Given the description of an element on the screen output the (x, y) to click on. 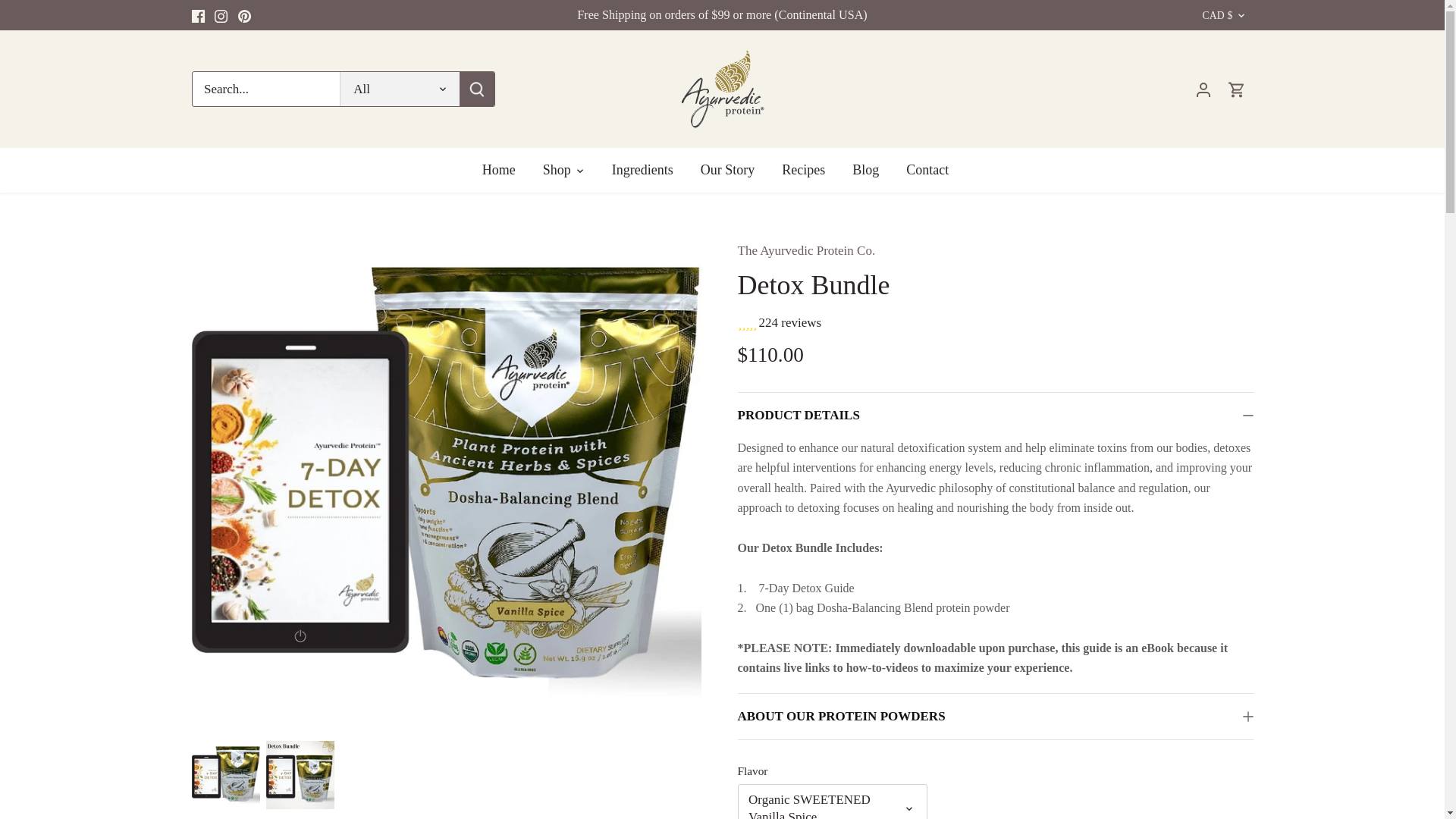
Instagram (220, 15)
Contact (927, 170)
Pinterest (244, 15)
Blog (865, 170)
Facebook (196, 15)
Ingredients (642, 170)
The Ayurvedic Protein Co. (805, 250)
Home (505, 170)
Recipes (803, 170)
Shop (557, 170)
